Given the description of an element on the screen output the (x, y) to click on. 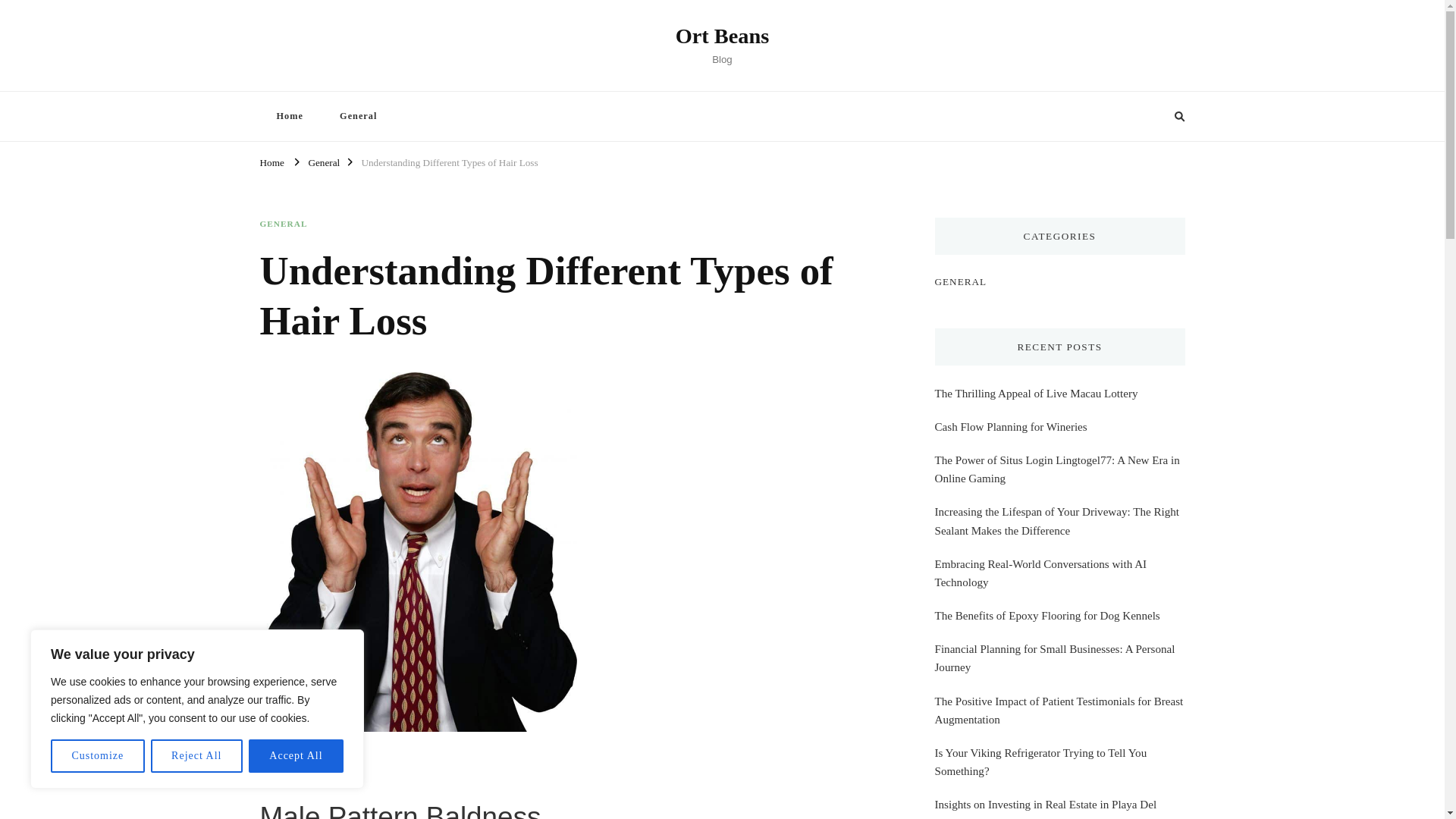
General (358, 115)
General (323, 161)
Home (271, 161)
Understanding Different Types of Hair Loss (449, 161)
Home (288, 115)
Customize (97, 756)
GENERAL (283, 223)
Accept All (295, 756)
Reject All (197, 756)
Ort Beans (722, 35)
